Given the description of an element on the screen output the (x, y) to click on. 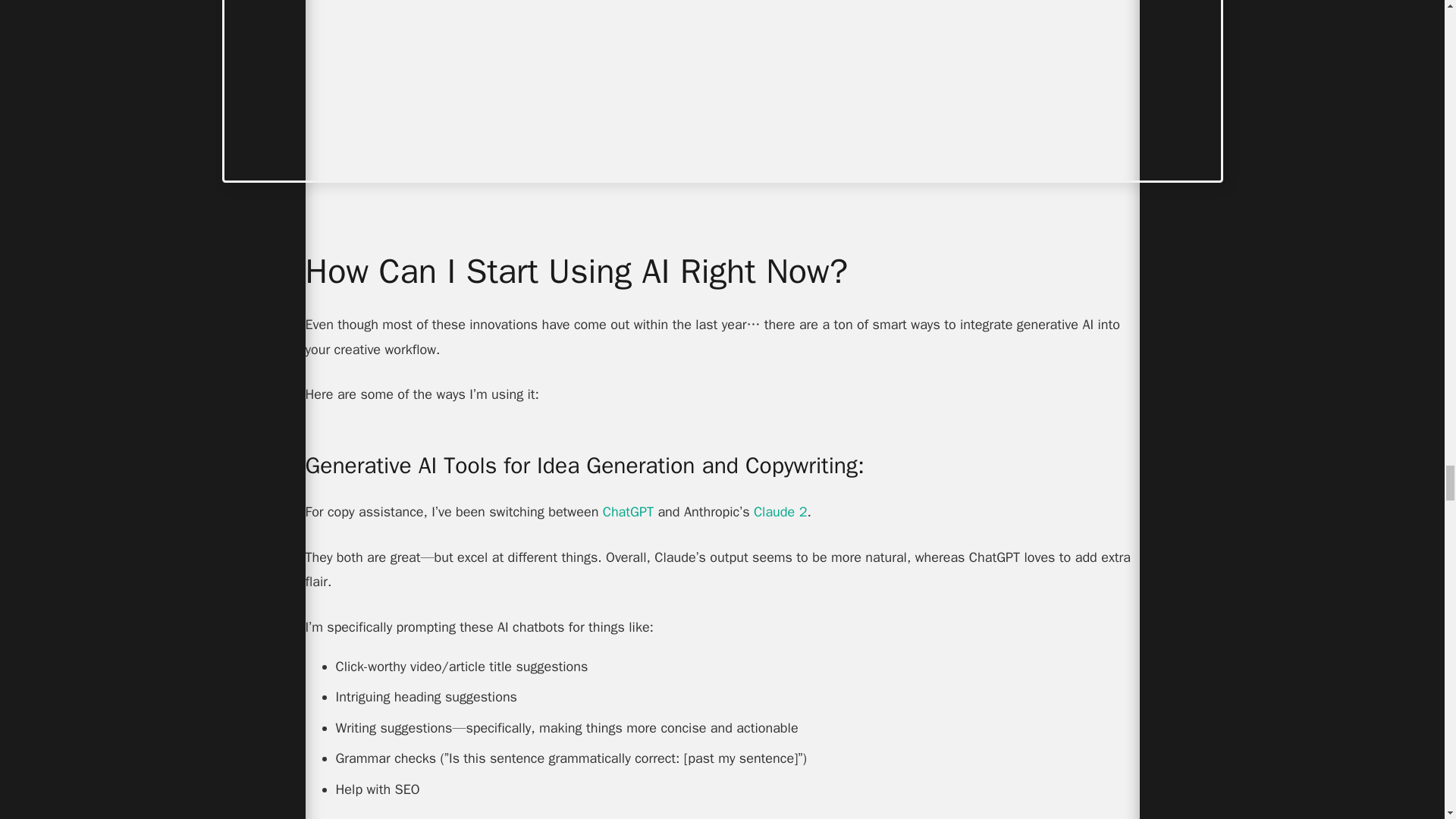
ChatGPT (627, 511)
Claude 2 (780, 511)
